Given the description of an element on the screen output the (x, y) to click on. 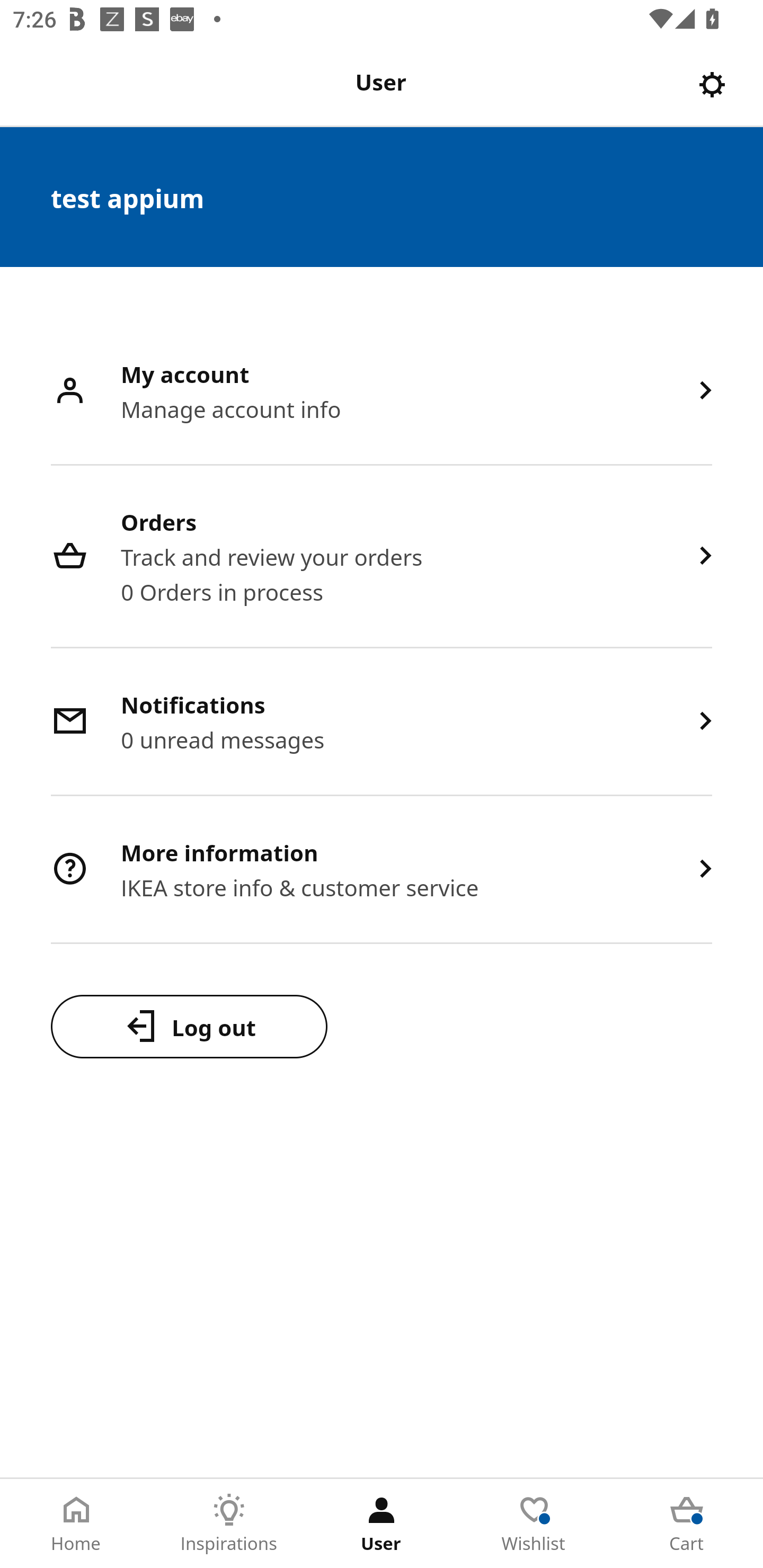
My account
Manage account info (381, 391)
Notifications
0 unread messages (381, 722)
Log out (189, 1026)
Home
Tab 1 of 5 (76, 1522)
Inspirations
Tab 2 of 5 (228, 1522)
User
Tab 3 of 5 (381, 1522)
Wishlist
Tab 4 of 5 (533, 1522)
Cart
Tab 5 of 5 (686, 1522)
